Given the description of an element on the screen output the (x, y) to click on. 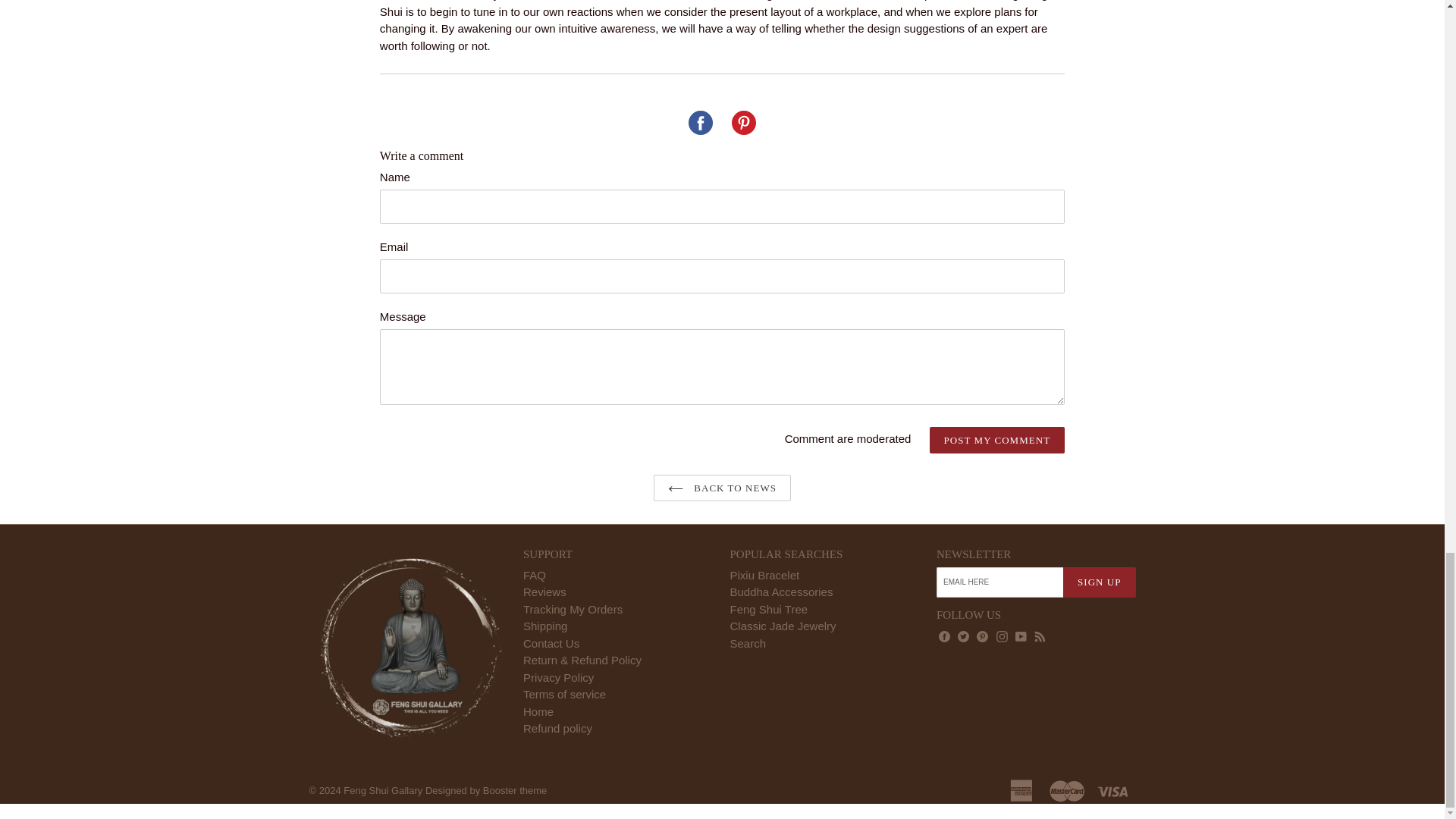
FengshuiGallary on Instagram (1002, 636)
FengshuiGallary on Facebook (944, 636)
american express (1022, 789)
FengshuiGallary on Twitter (963, 636)
Pin on Pinterest (742, 122)
Post My Comment (997, 440)
FengshuiGallary on YouTube (1021, 636)
FengshuiGallary on Pinterest (982, 636)
Share on Facebook (700, 122)
visa (1114, 789)
